Given the description of an element on the screen output the (x, y) to click on. 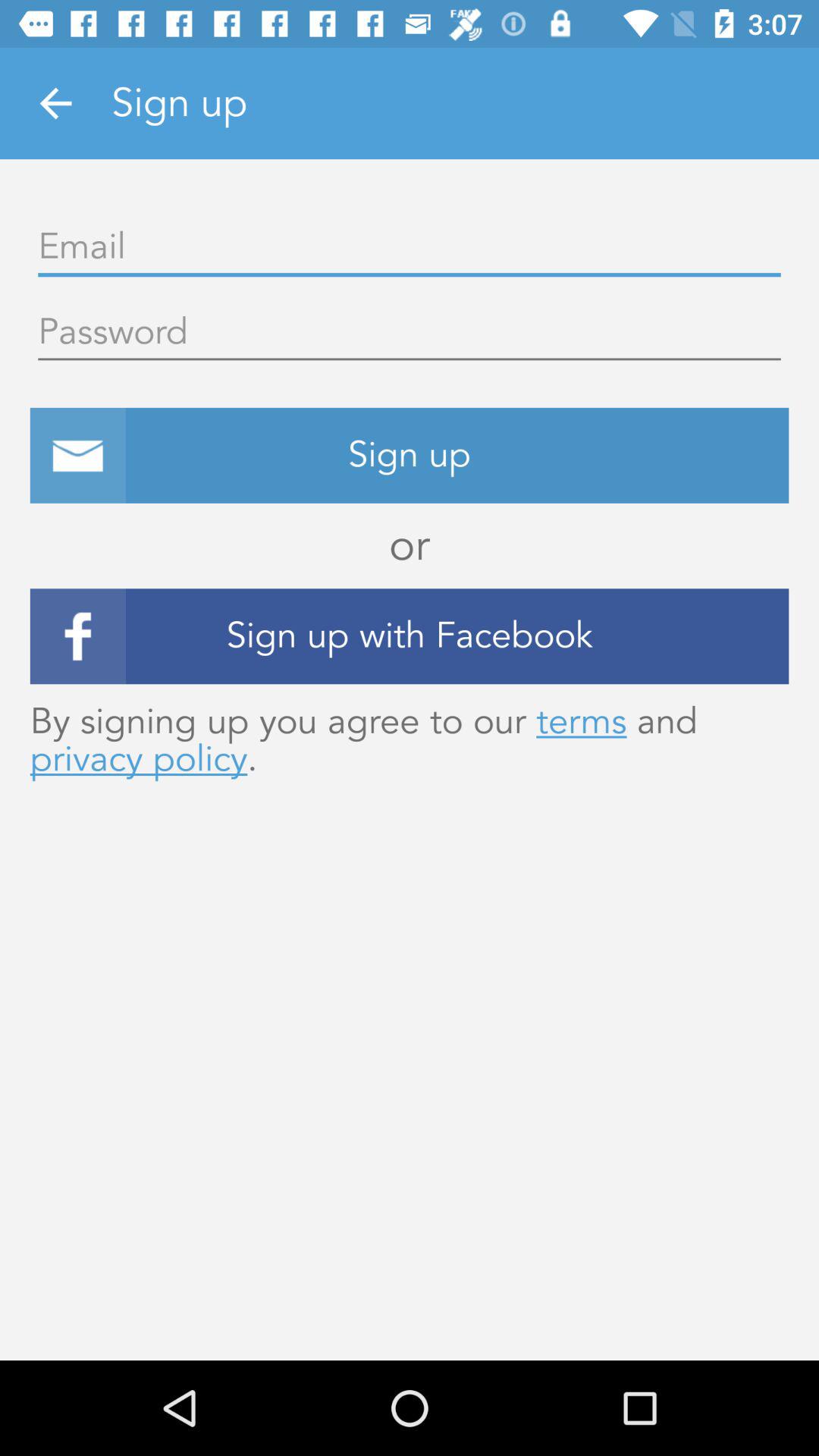
email address area (409, 247)
